Given the description of an element on the screen output the (x, y) to click on. 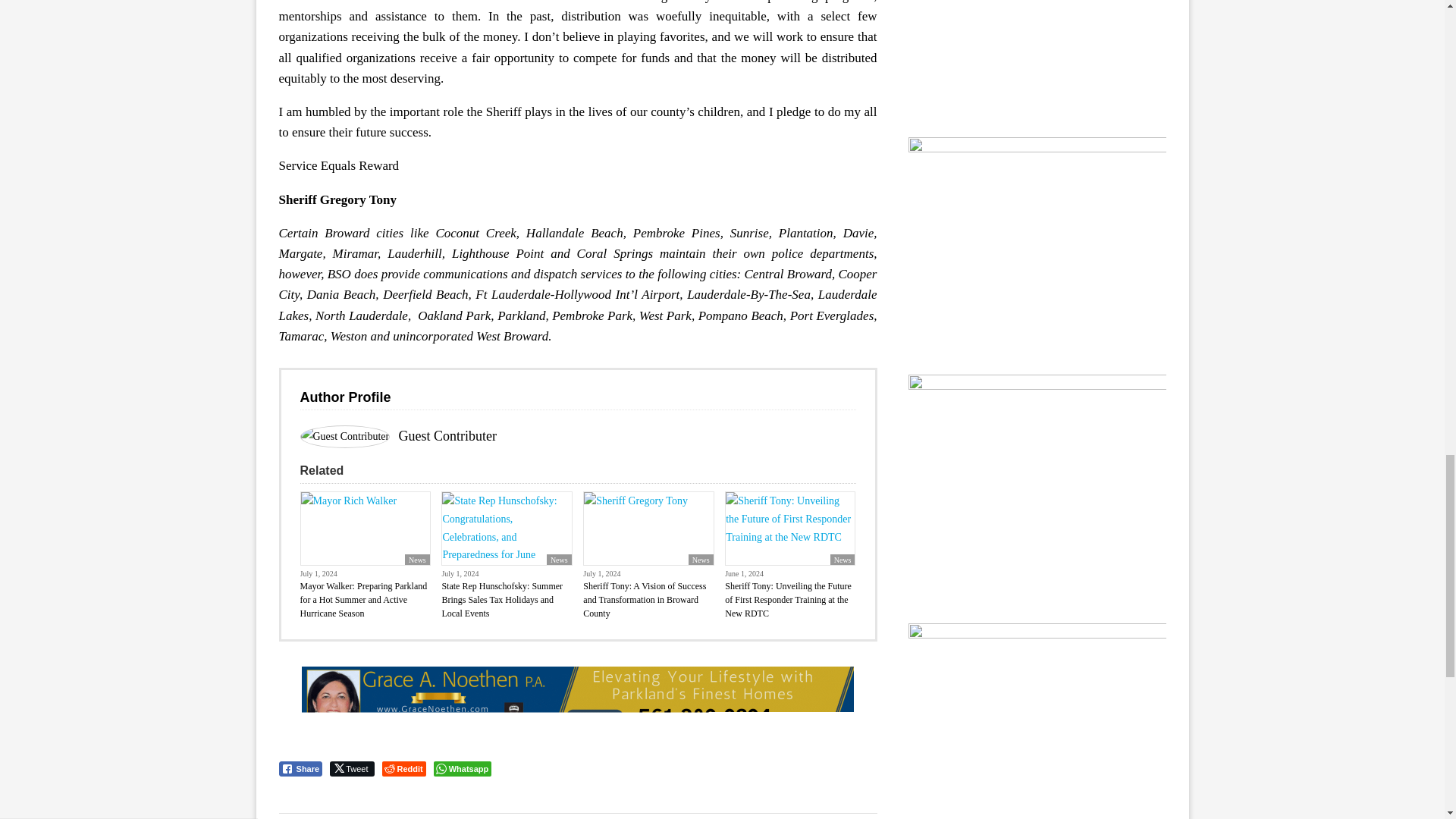
Sheriff Gregory Tony: Expanding Opportunities 7 (344, 436)
